Given the description of an element on the screen output the (x, y) to click on. 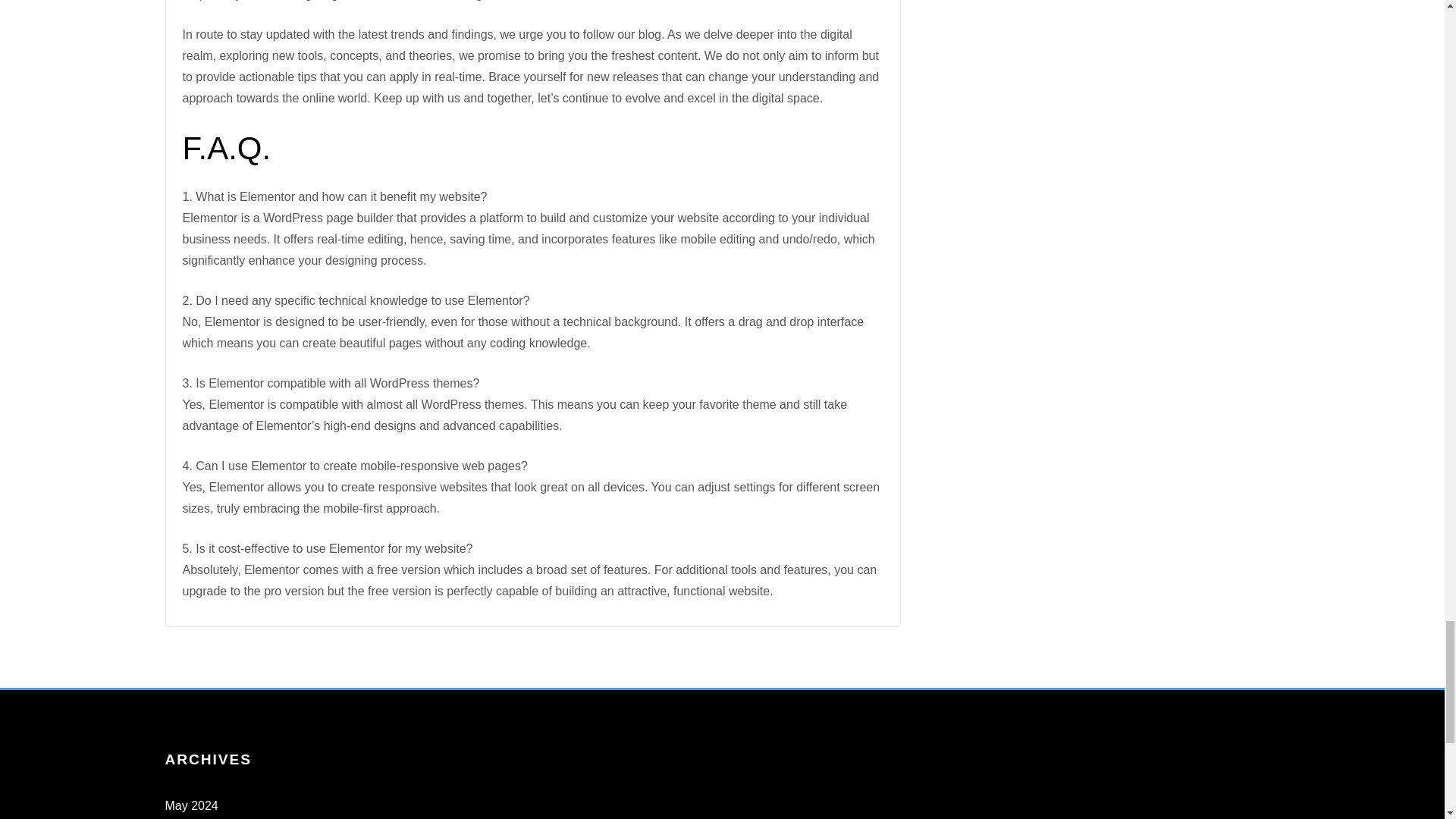
May 2024 (191, 805)
